Given the description of an element on the screen output the (x, y) to click on. 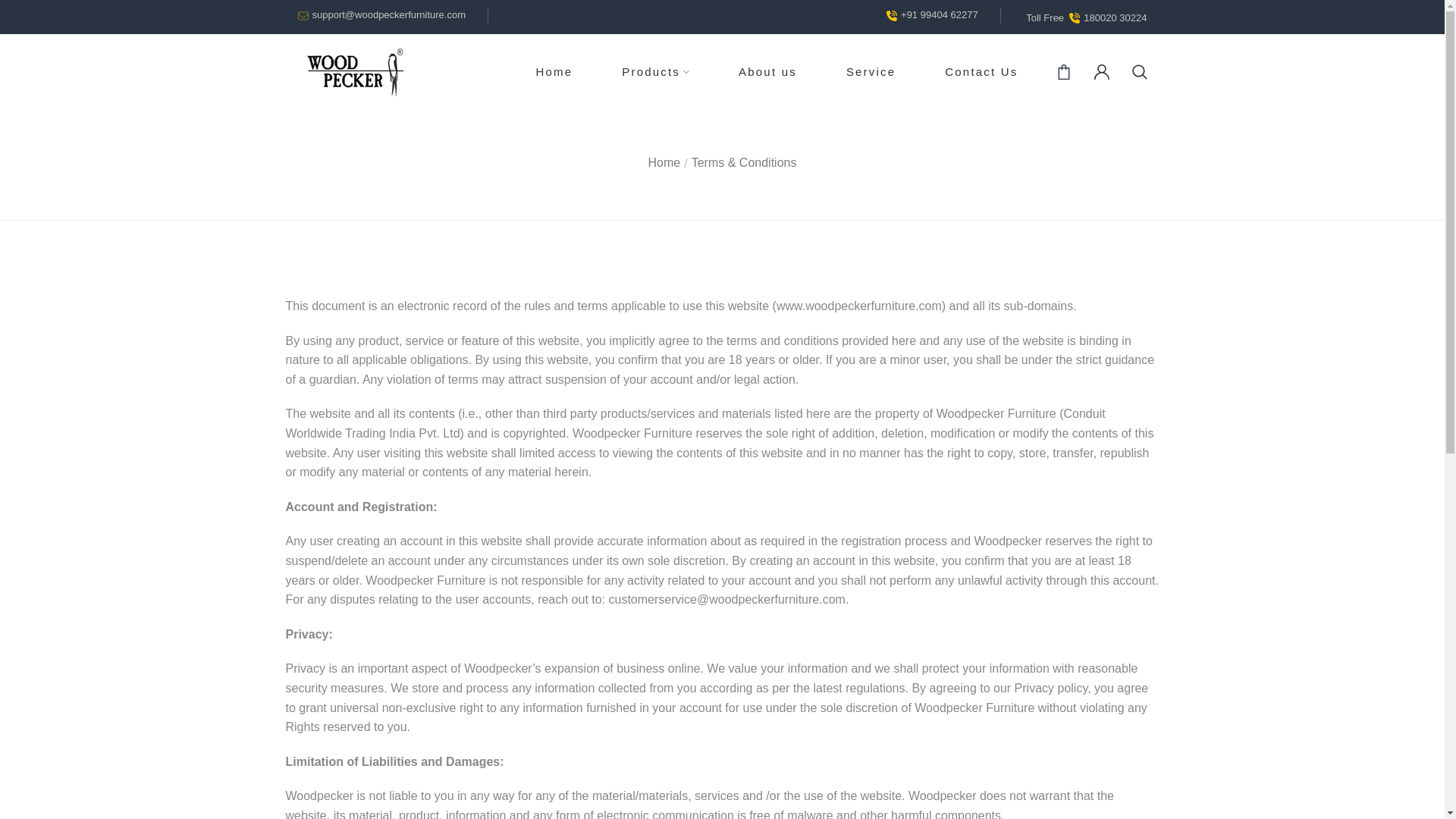
Home (553, 71)
Service (871, 71)
Contact Us (981, 71)
Home (664, 162)
180020 30224 (1115, 18)
About us (767, 71)
Skip to content (10, 7)
Products (727, 71)
